Given the description of an element on the screen output the (x, y) to click on. 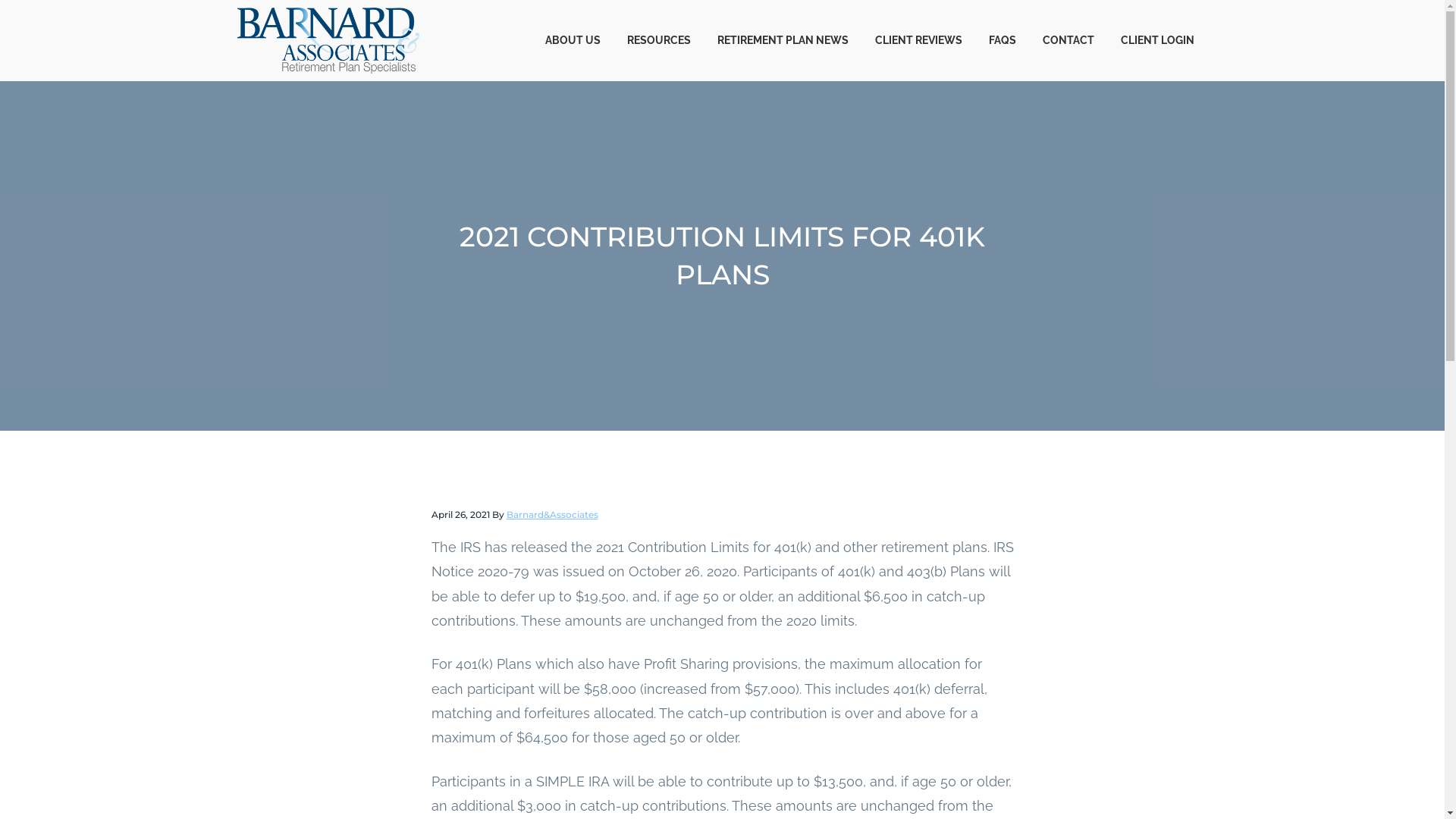
CONTACT Element type: text (1068, 39)
FAQS Element type: text (1002, 39)
Barnard & Associates Element type: text (306, 79)
RETIREMENT PLAN NEWS Element type: text (782, 39)
Skip to primary navigation Element type: text (0, 0)
Barnard&Associates Element type: text (552, 514)
RESOURCES Element type: text (659, 39)
CLIENT REVIEWS Element type: text (918, 39)
CLIENT LOGIN Element type: text (1157, 39)
ABOUT US Element type: text (573, 39)
